Given the description of an element on the screen output the (x, y) to click on. 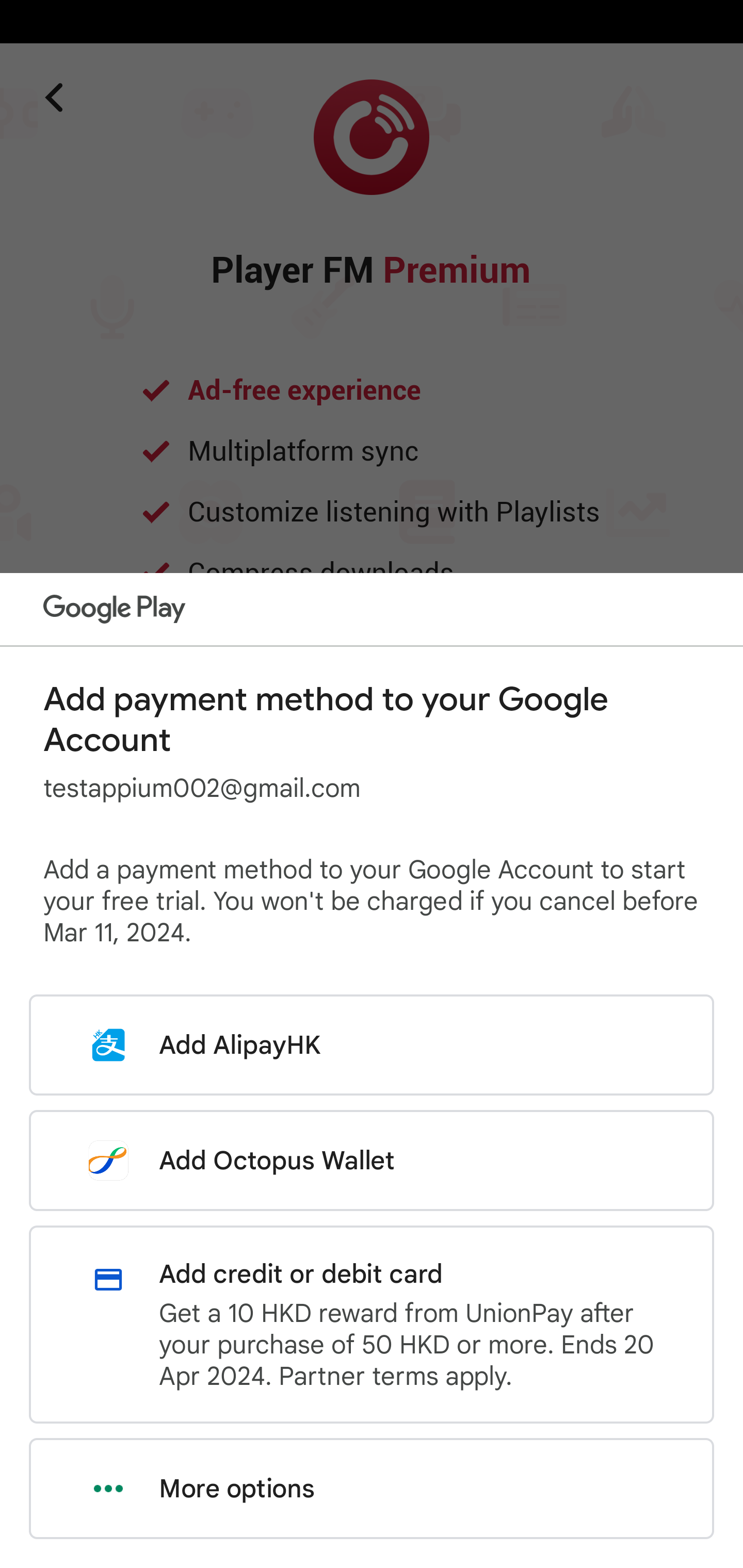
Add AlipayHK (371, 1045)
Add Octopus Wallet (371, 1160)
More options (371, 1488)
